Given the description of an element on the screen output the (x, y) to click on. 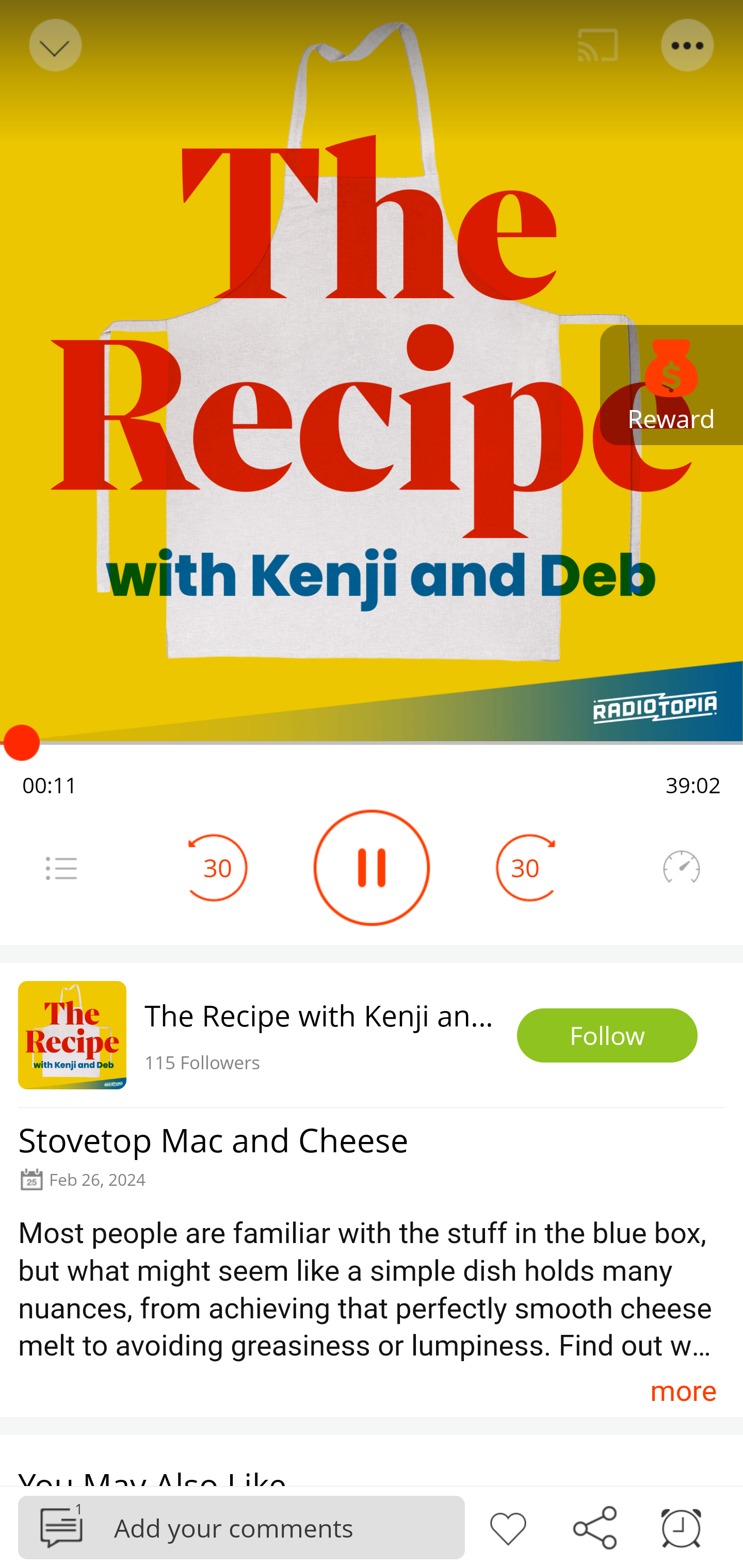
Back (53, 45)
Cast. Disconnected (597, 45)
Menu (688, 45)
Reward (671, 384)
Play (371, 867)
30 Seek Backward (217, 867)
30 Seek Forward (525, 867)
Menu (60, 867)
Speedometer (681, 867)
The Recipe with Kenji and Deb 115 Followers Follow (371, 1034)
Follow (607, 1035)
more (682, 1390)
Like (508, 1526)
Share (594, 1526)
Sleep timer (681, 1526)
Podbean 1 Add your comments (241, 1526)
